Given the description of an element on the screen output the (x, y) to click on. 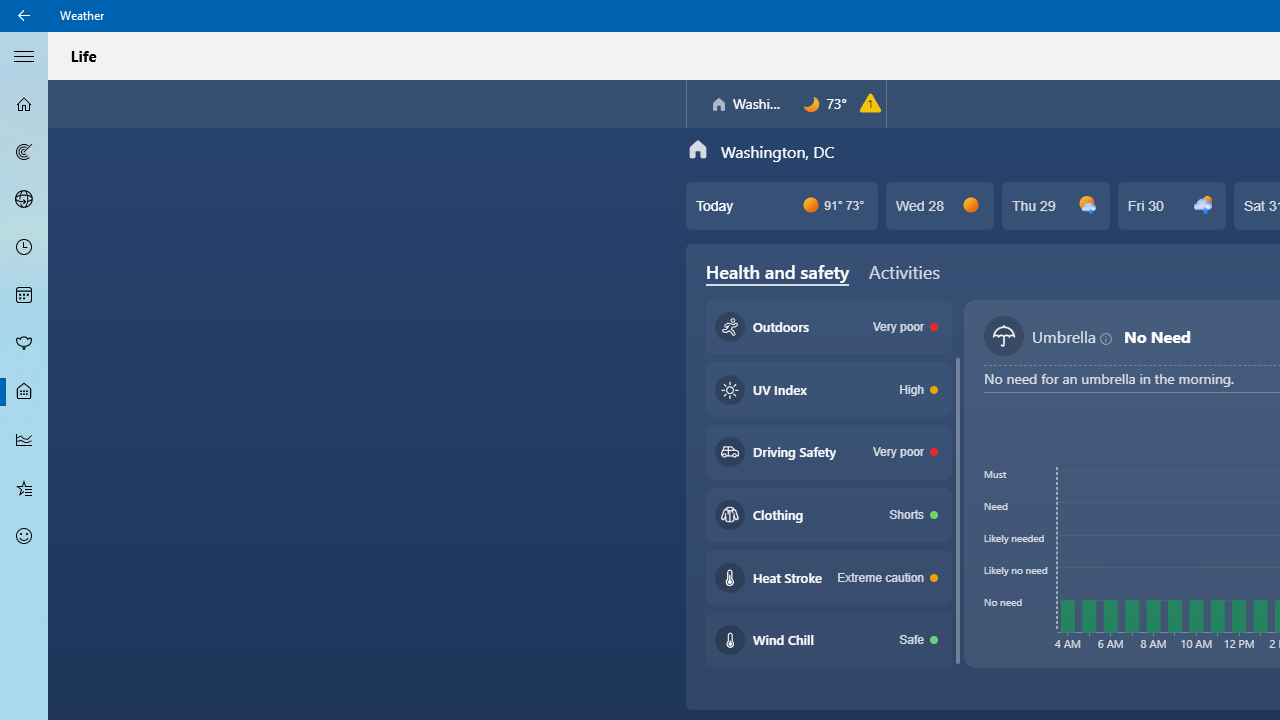
Hourly Forecast - Not Selected (24, 247)
Life - Not Selected (24, 391)
Maps - Not Selected (24, 151)
Monthly Forecast - Not Selected (24, 295)
Historical Weather - Not Selected (24, 439)
Pollen - Not Selected (24, 343)
3D Maps - Not Selected (24, 199)
